Given the description of an element on the screen output the (x, y) to click on. 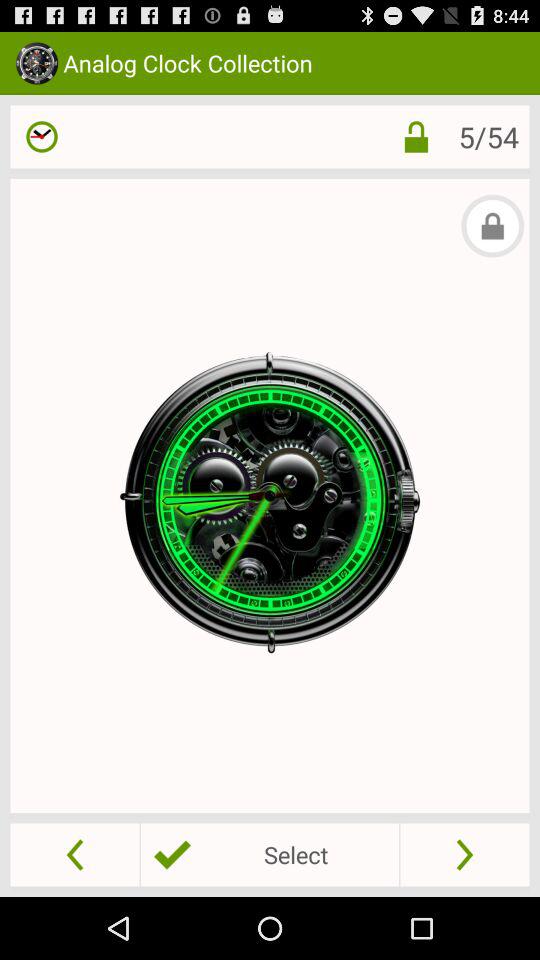
open the app to the left of the 5/54 (416, 136)
